Given the description of an element on the screen output the (x, y) to click on. 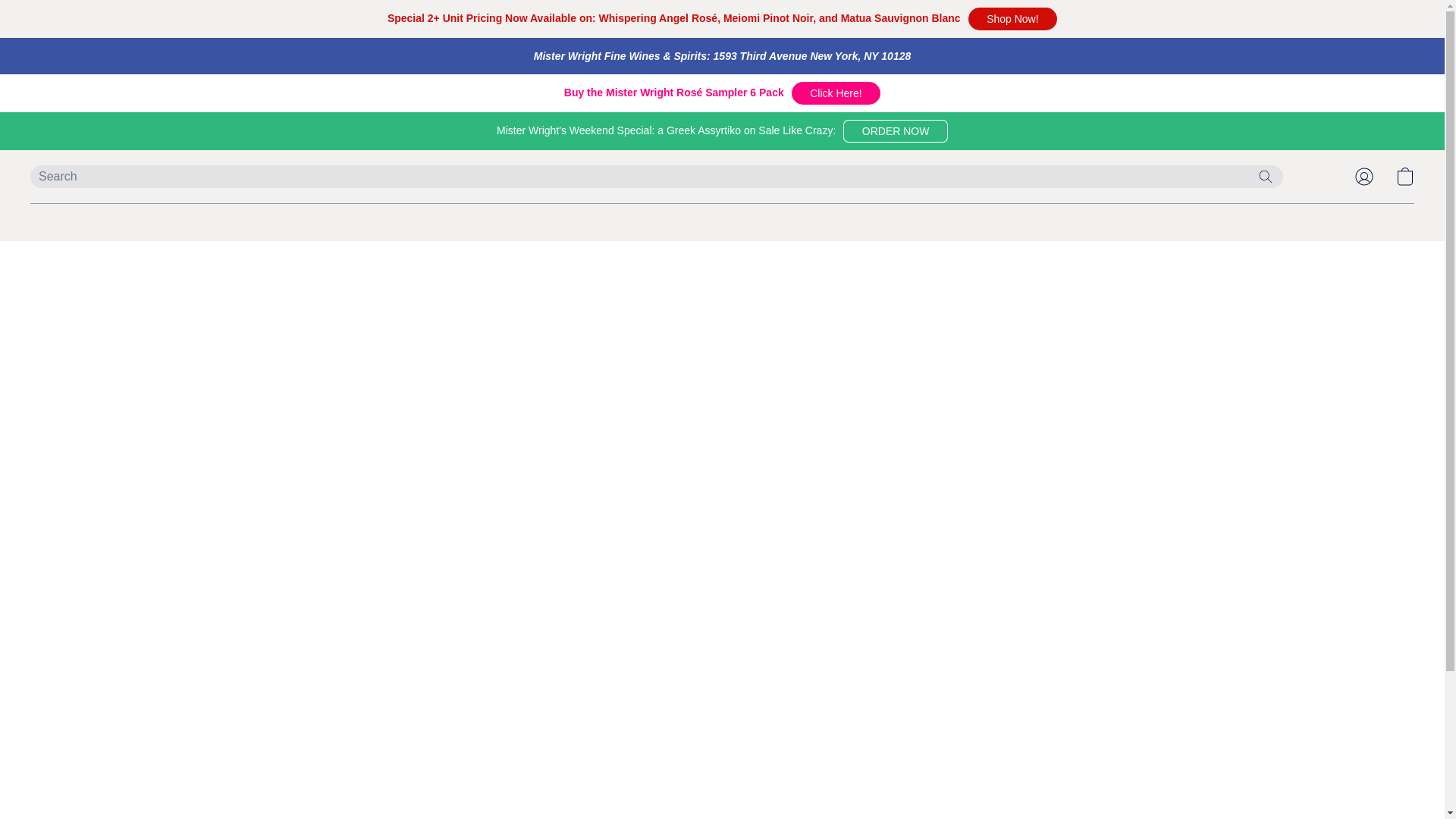
Click Here! (836, 92)
ORDER NOW (895, 130)
Go to your shopping cart (1404, 176)
Shop Now! (1012, 18)
